Given the description of an element on the screen output the (x, y) to click on. 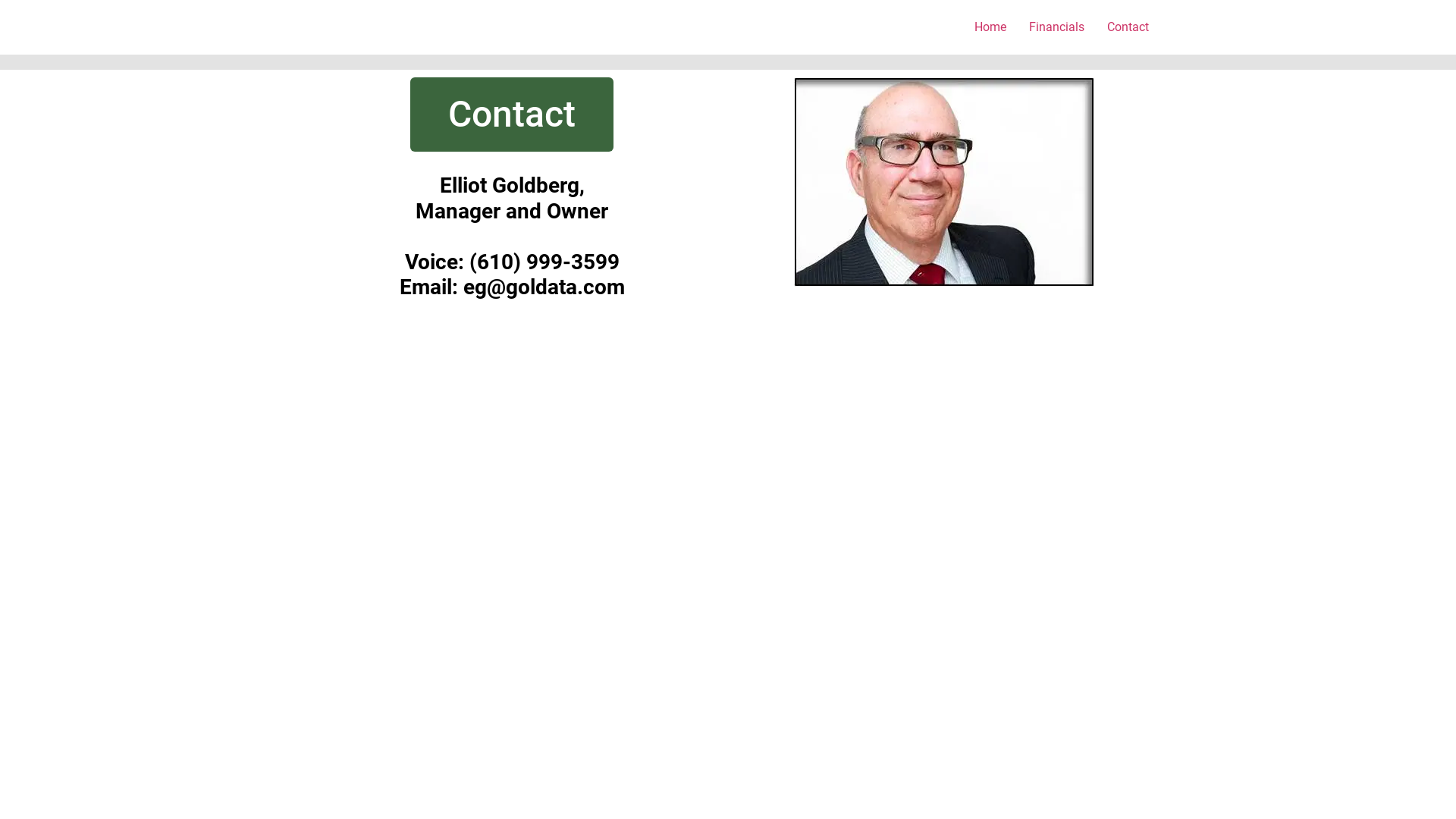
Contact Element type: text (1127, 27)
Contact Element type: text (511, 114)
Financials Element type: text (1056, 27)
Home Element type: text (990, 27)
